Given the description of an element on the screen output the (x, y) to click on. 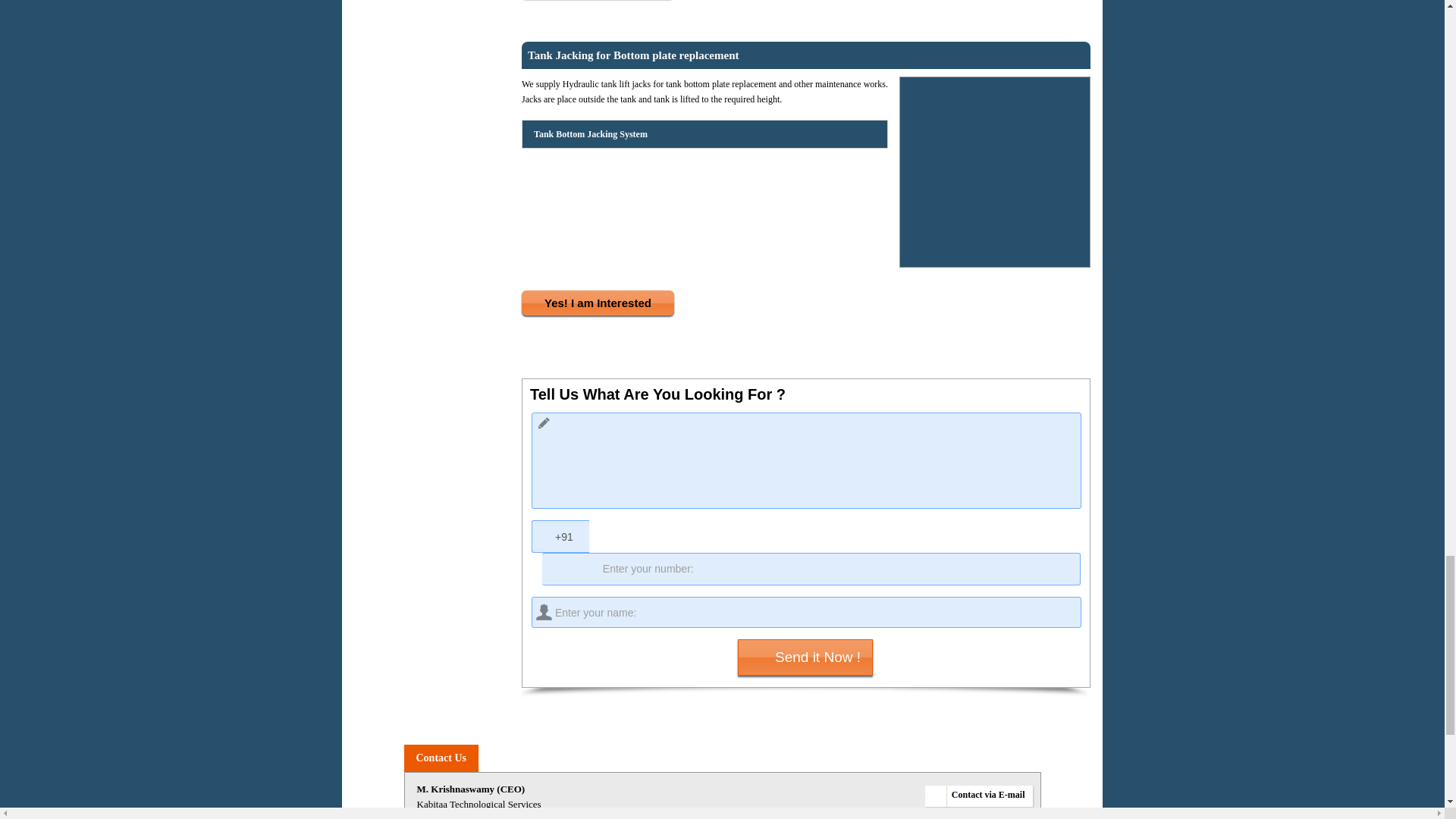
Tank Bottom Jacking System (589, 133)
Send it Now ! (805, 657)
Enter your number: (810, 568)
Tank Jacking for Bottom plate replacement (632, 55)
Enter your name: (806, 612)
Send it Now ! (805, 657)
